Given the description of an element on the screen output the (x, y) to click on. 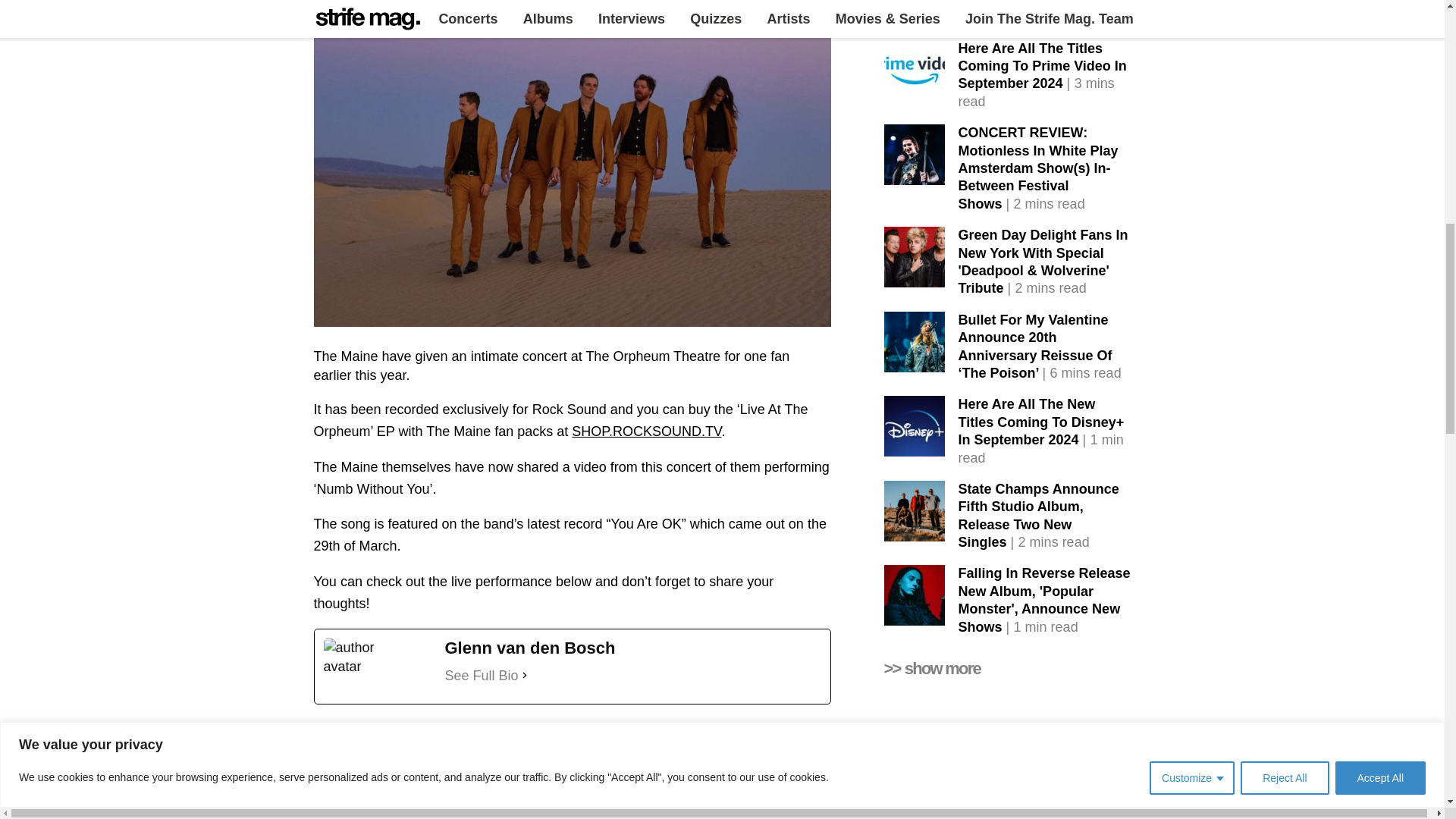
Falling In Reverse 2022 - Strife Mag (913, 595)
Green Day 2024 - Strife Mag (913, 256)
Palaye Royale - Strife Mag (913, 791)
Prime Video - Strife Mag (913, 70)
State Champs - Strife Mag (913, 510)
Falling In Reverse 2022 - Strife Mag (913, 13)
Motionless In White Melkweg Amsterdam-9 - Strife Mag (913, 154)
